Given the description of an element on the screen output the (x, y) to click on. 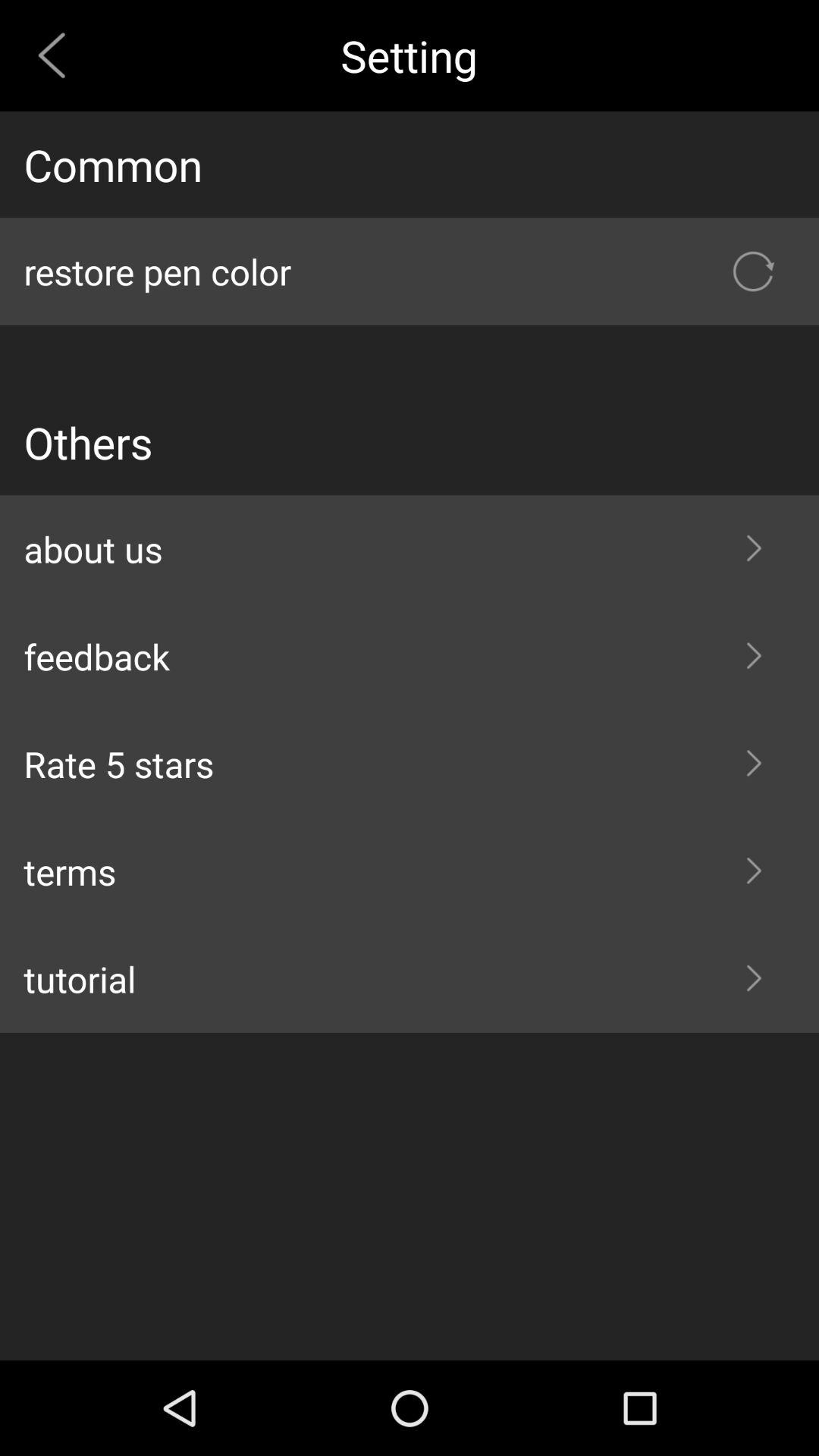
click the rate 5 stars item (409, 763)
